Given the description of an element on the screen output the (x, y) to click on. 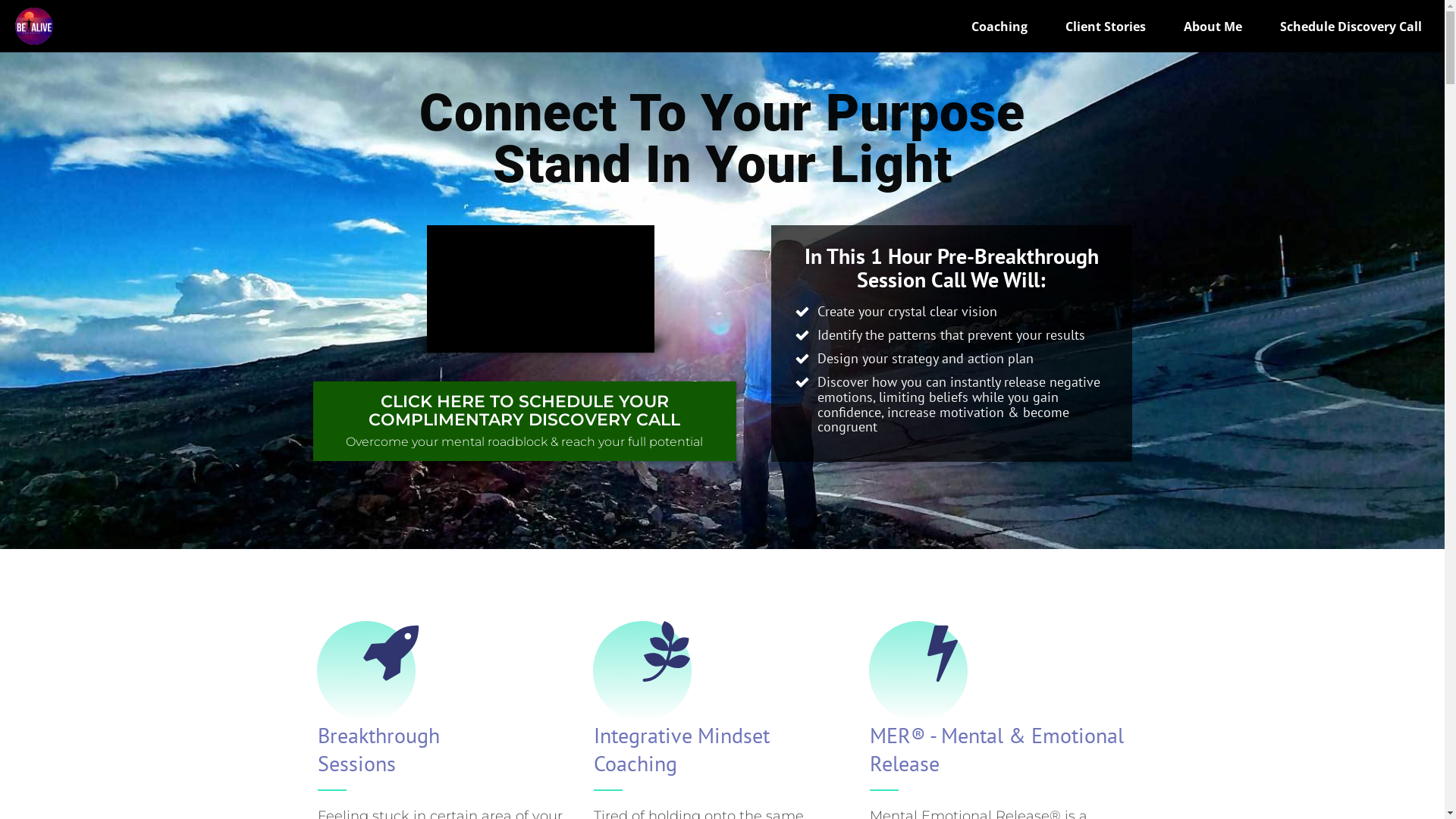
About Me Element type: text (1212, 26)
Coaching Element type: text (999, 26)
Schedule Discovery Call Element type: text (1350, 26)
Client Stories Element type: text (1105, 26)
